Given the description of an element on the screen output the (x, y) to click on. 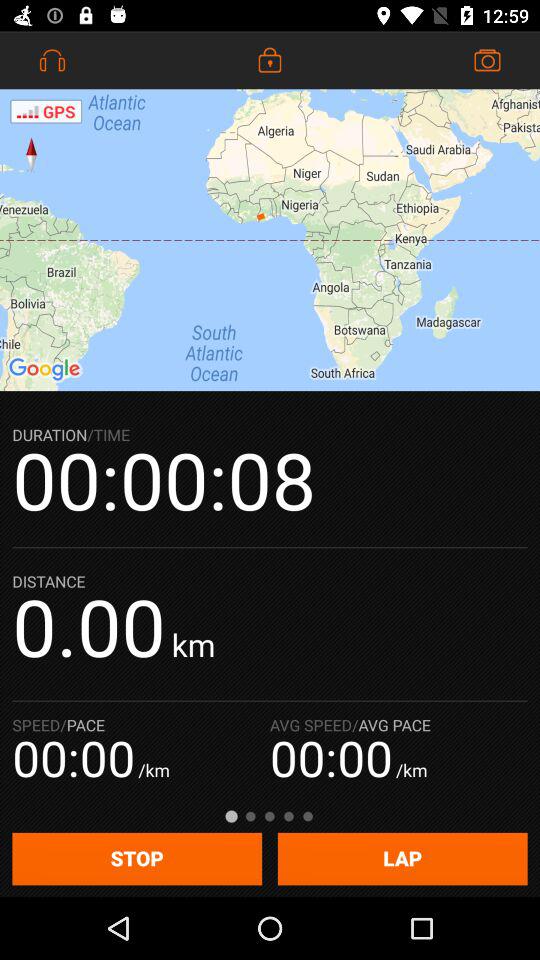
select the icon at the top right corner (487, 60)
